Given the description of an element on the screen output the (x, y) to click on. 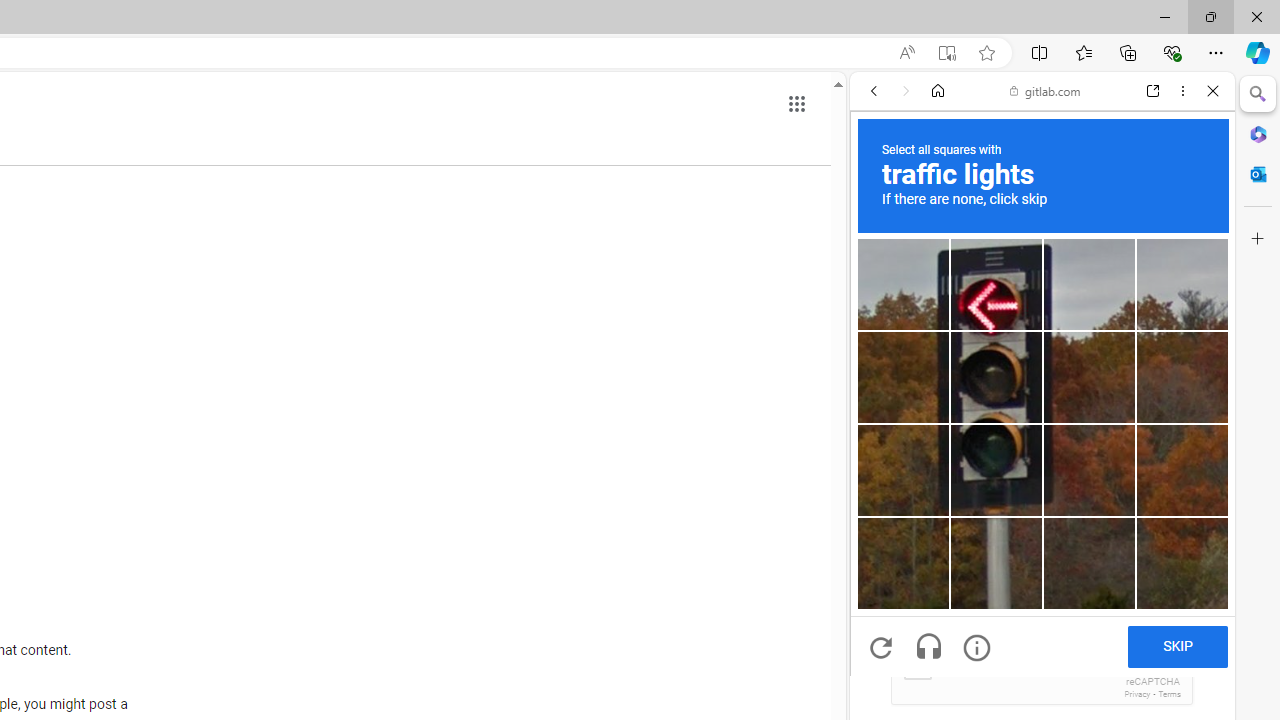
Login (1042, 494)
ALL   (881, 228)
Confirmation Page (1042, 690)
Resend confirmation instructions (1042, 443)
Get a new challenge (880, 647)
Get an audio challenge (928, 647)
Dashboard (1042, 641)
Emails (886, 603)
About GitLab (1042, 592)
